Given the description of an element on the screen output the (x, y) to click on. 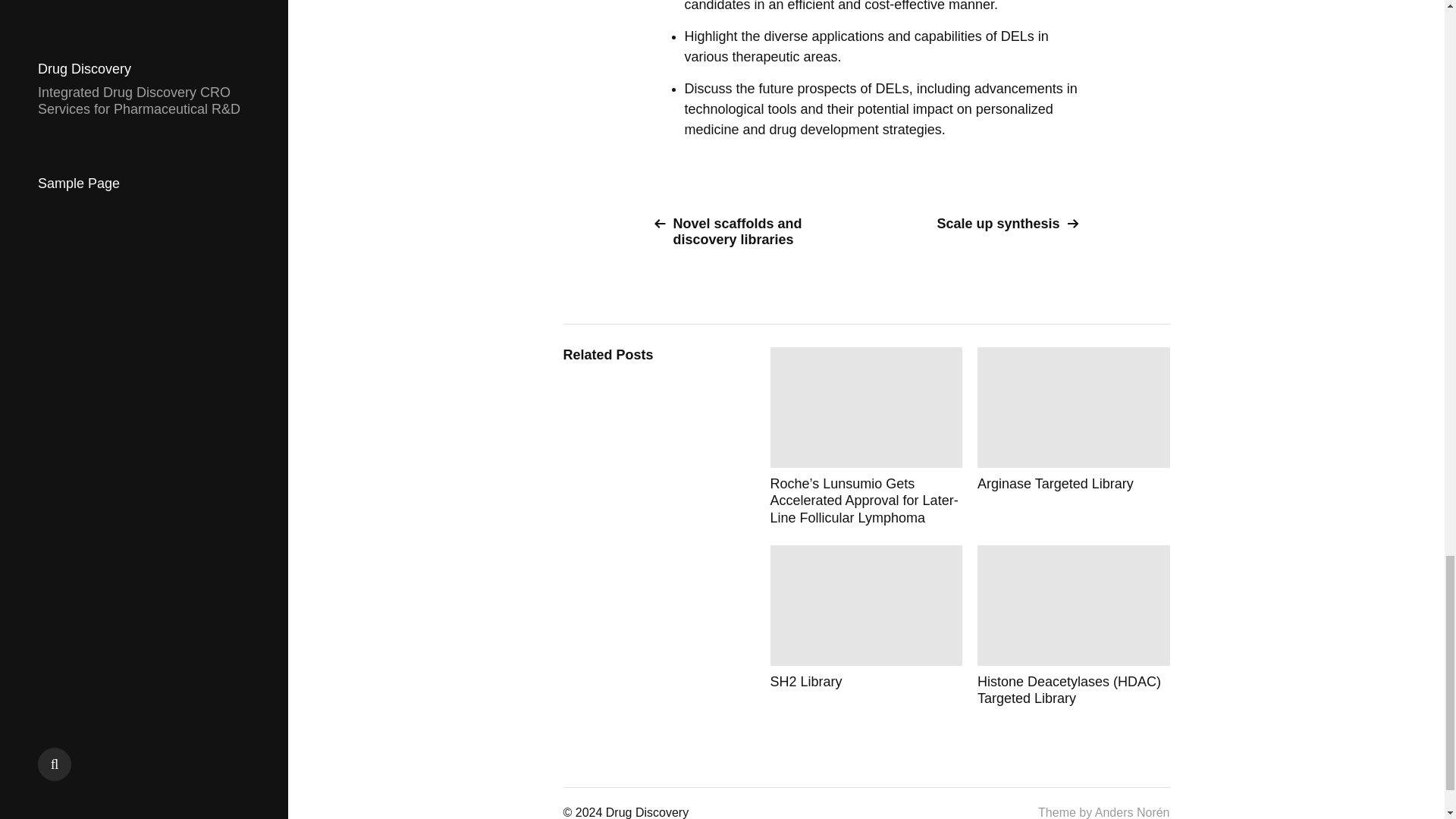
Novel scaffolds and discovery libraries (753, 232)
SH2 Library (866, 625)
Scale up synthesis (977, 223)
Arginase Targeted Library (1073, 436)
